Given the description of an element on the screen output the (x, y) to click on. 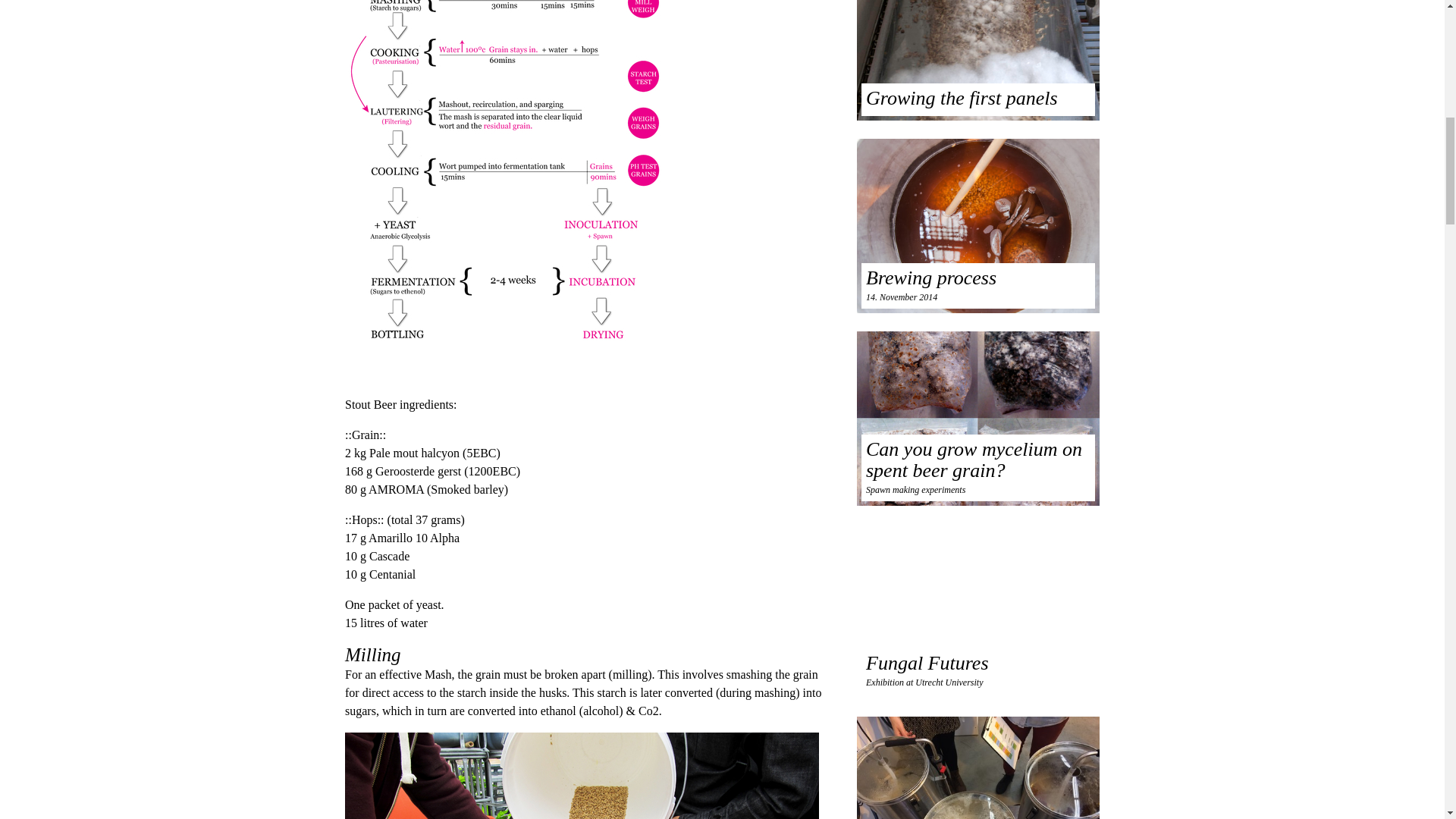
Milling (589, 775)
